Given the description of an element on the screen output the (x, y) to click on. 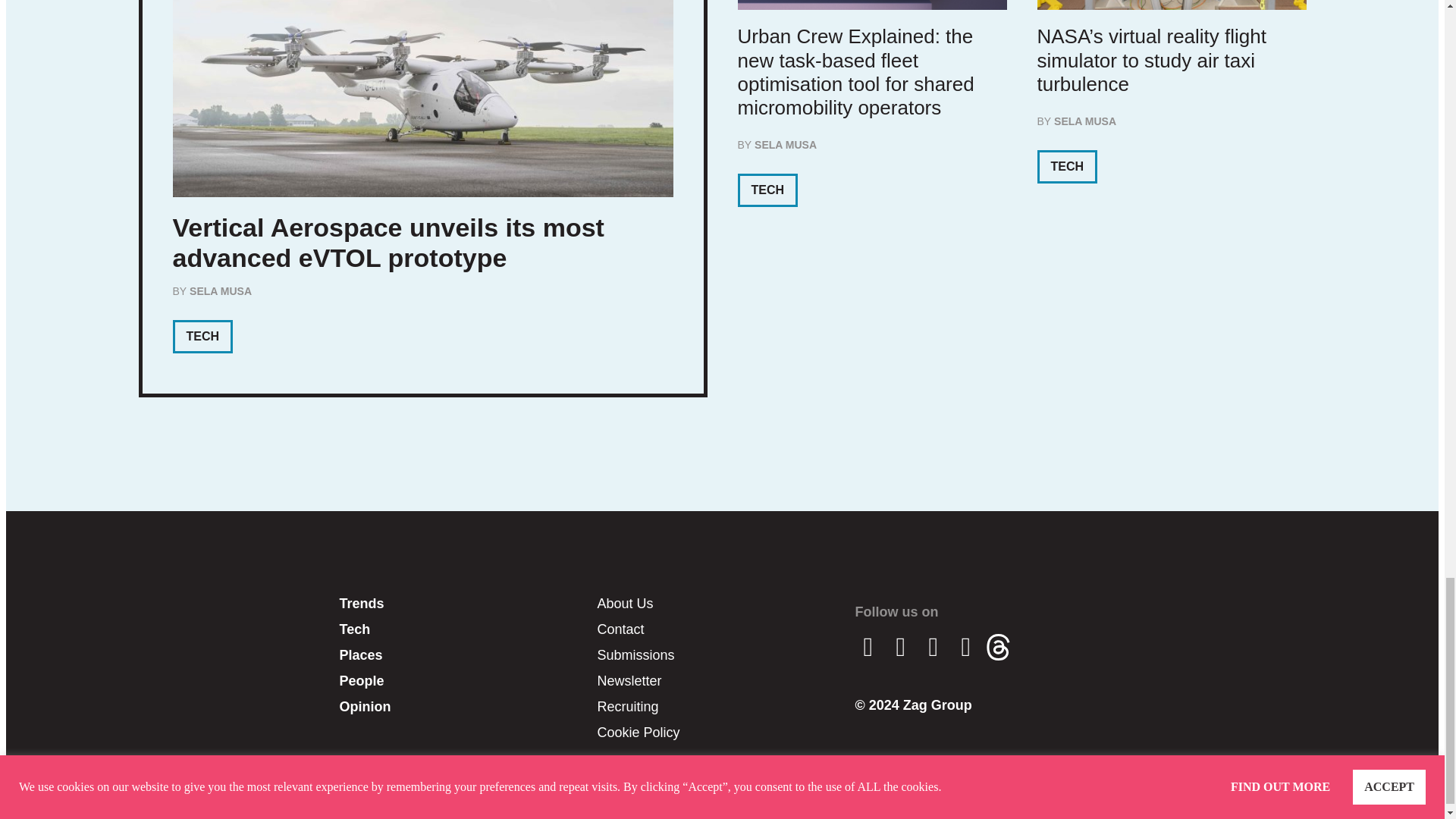
TECH (766, 190)
Tech (464, 629)
TECH (202, 336)
Vertical Aerospace unveils its most advanced eVTOL prototype (388, 242)
TECH (1066, 166)
Trends (464, 603)
